Given the description of an element on the screen output the (x, y) to click on. 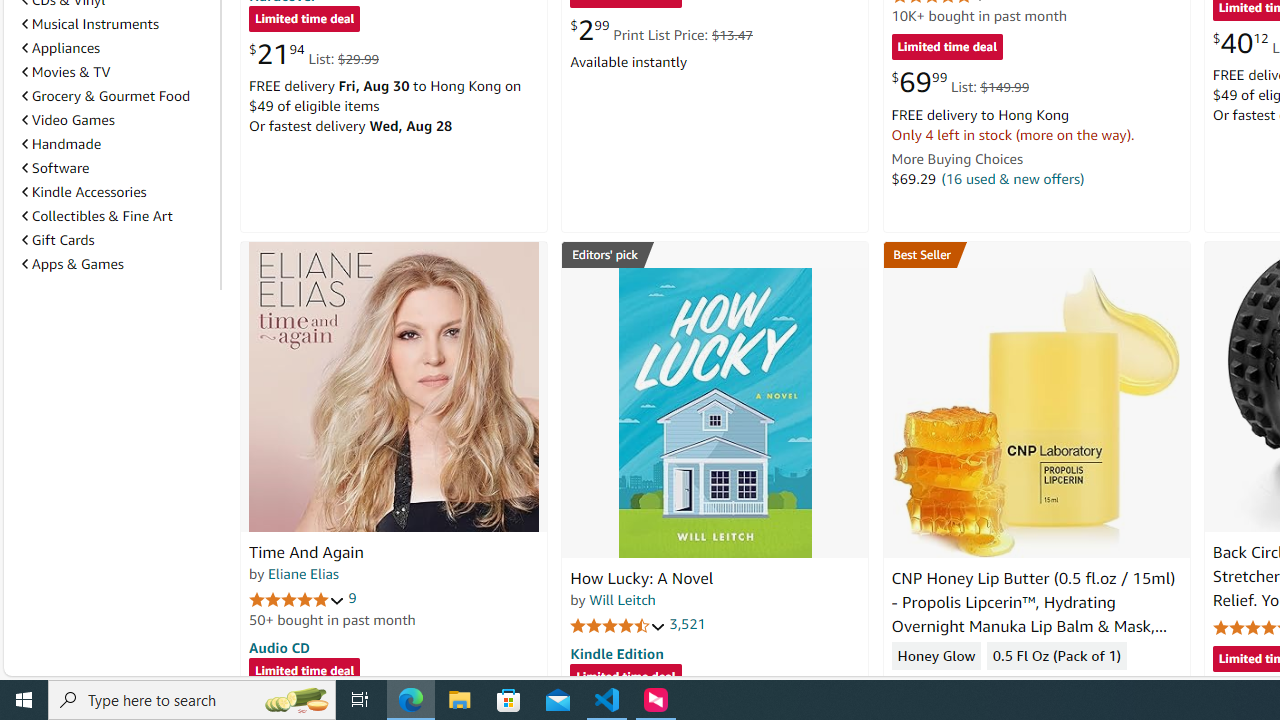
Gift Cards (57, 240)
Kindle Accessories (117, 192)
$21.94 List: $29.99 (314, 54)
Kindle Edition (616, 653)
9 (352, 597)
Best Seller in Lip Butters (1036, 254)
(16 used & new offers) (1012, 178)
Editors' pick Best Mystery, Thriller & Suspense (715, 254)
4.3 out of 5 stars (939, 685)
Musical Instruments (89, 24)
Gift Cards (117, 239)
Collectibles & Fine Art (117, 215)
Grocery & Gourmet Food (105, 96)
